Given the description of an element on the screen output the (x, y) to click on. 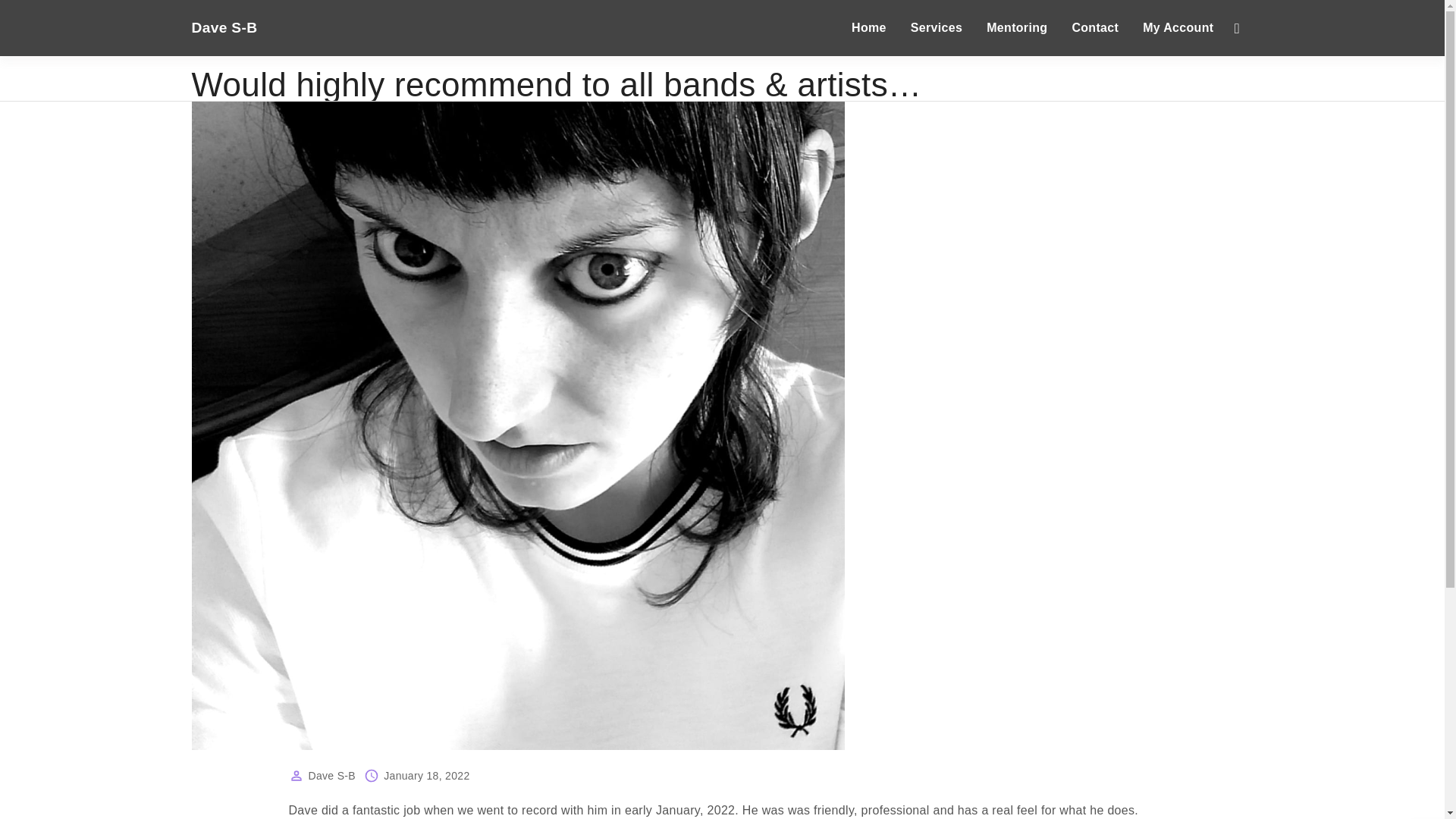
Mentoring (1016, 28)
Dave S-B (331, 775)
Posts by Dave S-B (331, 775)
Contact (1094, 28)
Services (936, 28)
My Account (1177, 28)
Dave S-B (229, 27)
